Given the description of an element on the screen output the (x, y) to click on. 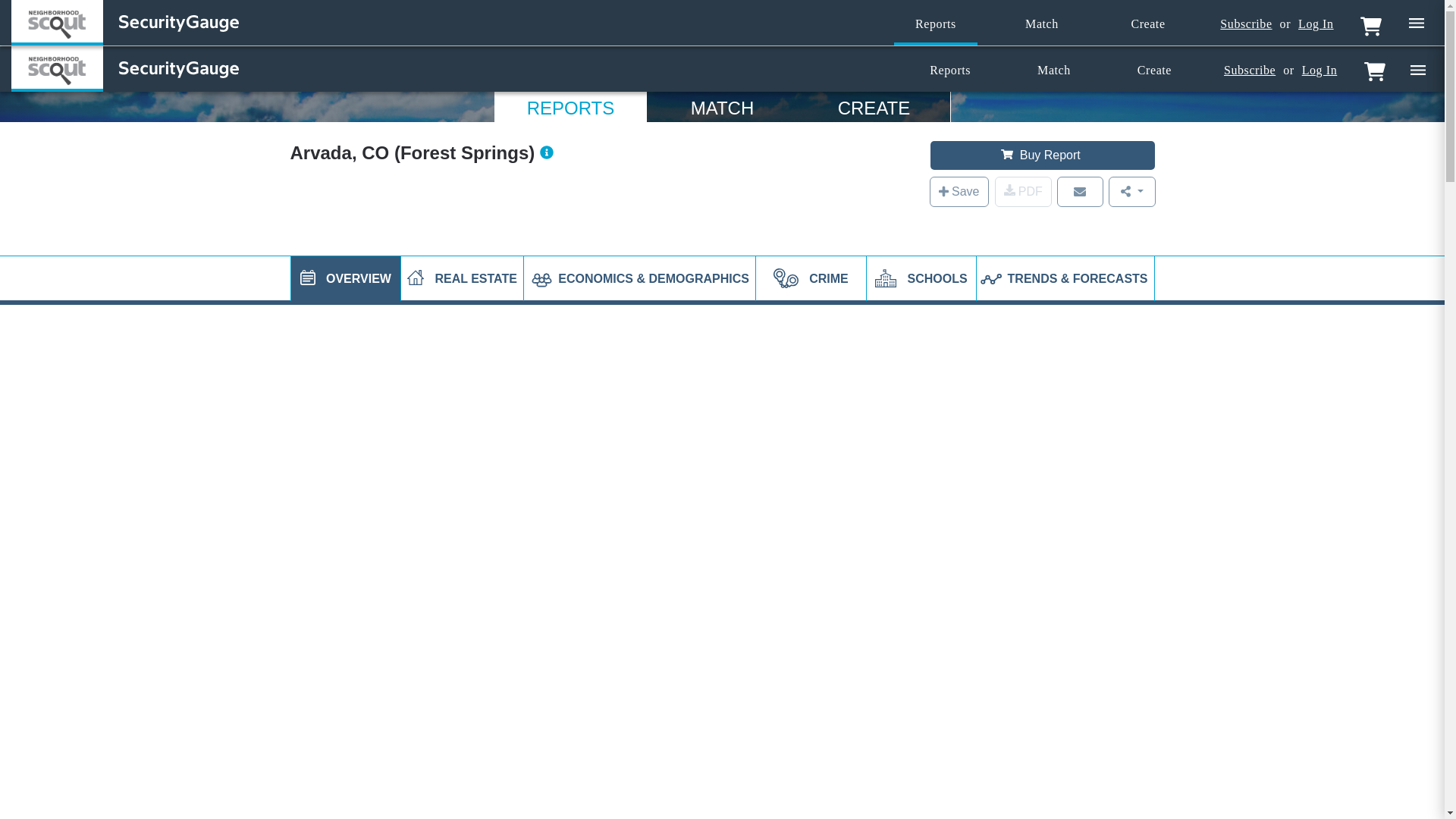
Reports (934, 24)
Create (1147, 24)
Log In (1315, 24)
Match (1041, 24)
Subscribe (1245, 24)
j (307, 277)
